Given the description of an element on the screen output the (x, y) to click on. 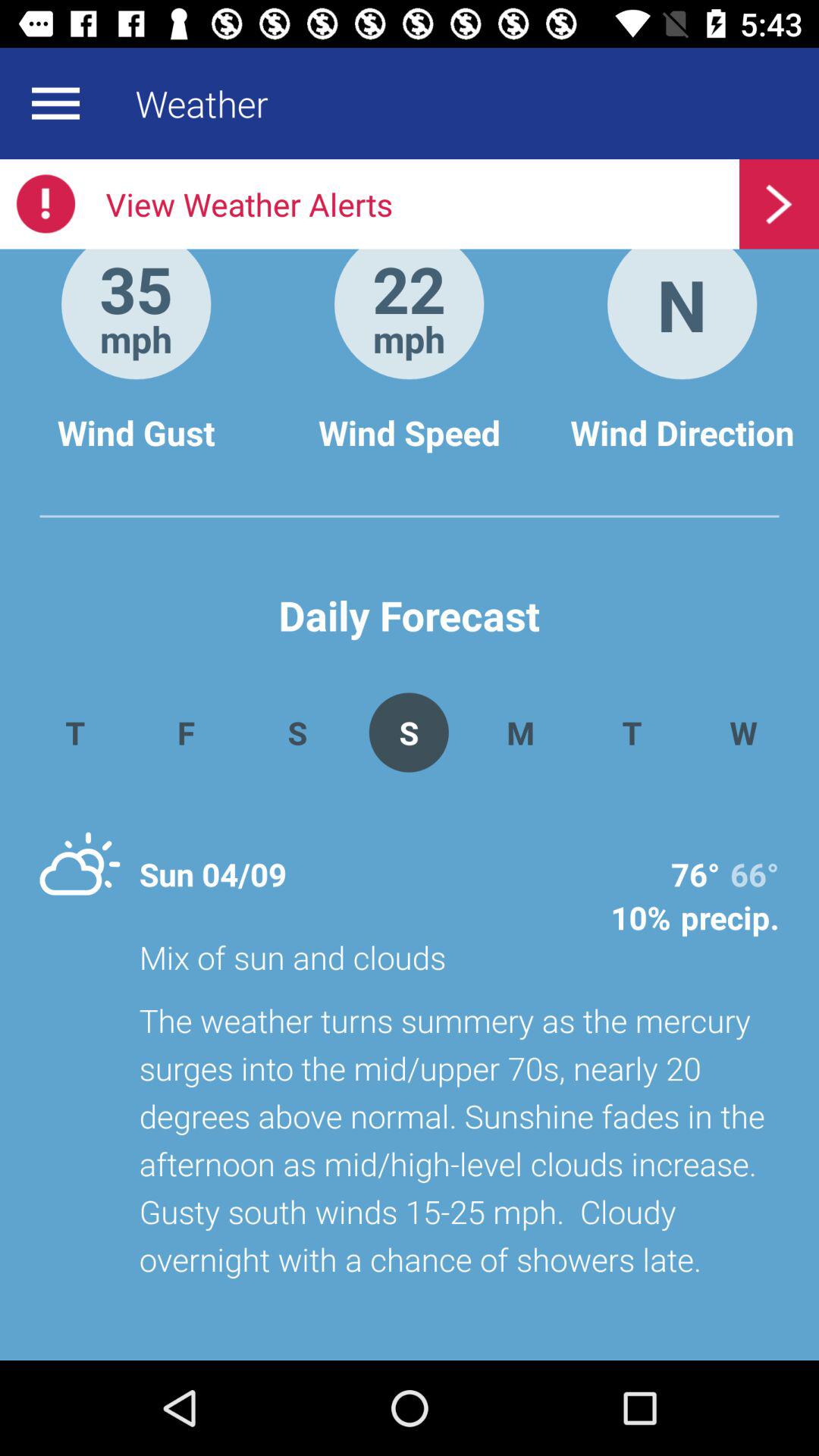
menu bar button (55, 103)
